Given the description of an element on the screen output the (x, y) to click on. 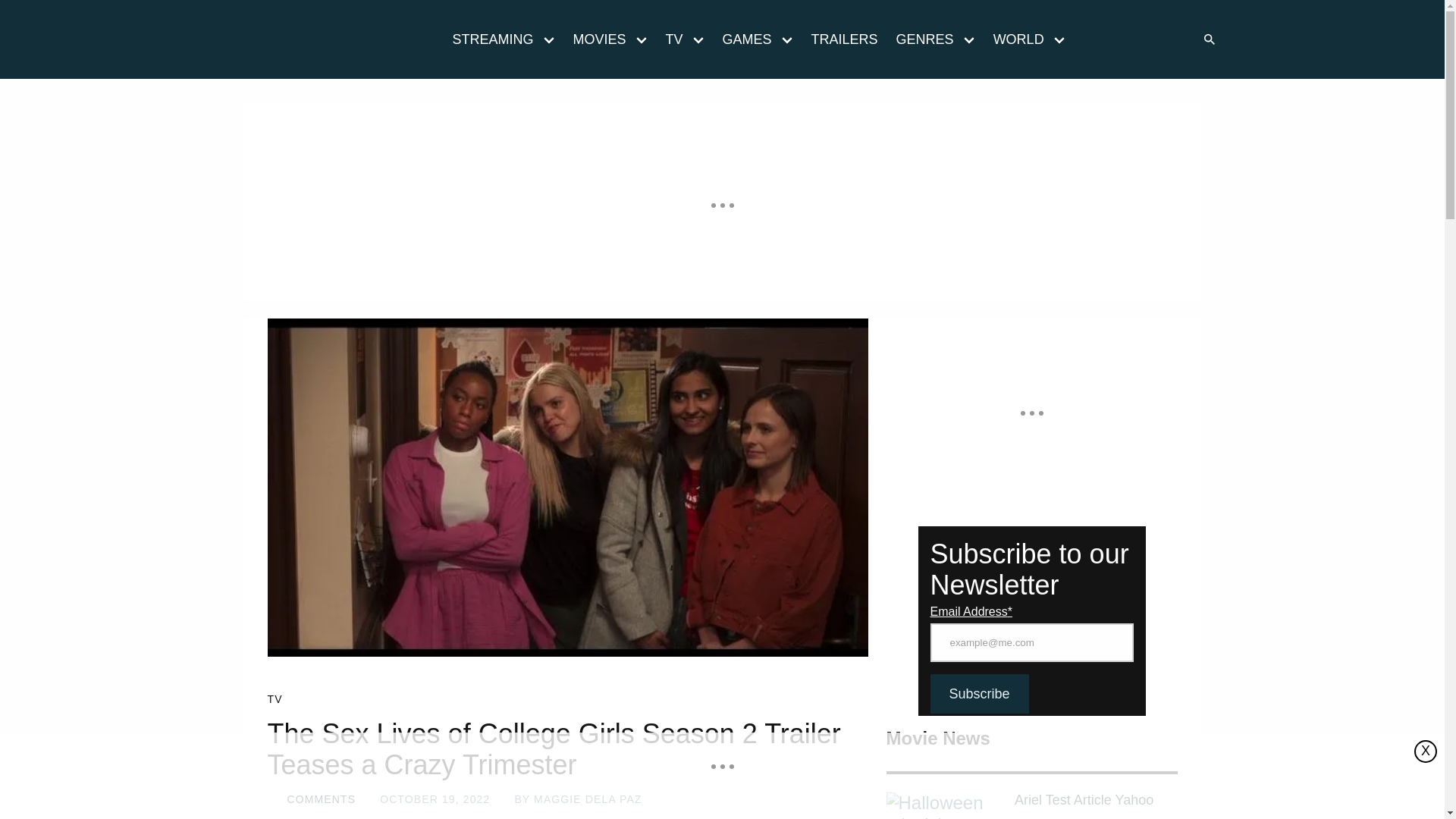
Ariel Test Article Yahoo (1095, 800)
Open menu (786, 39)
Ariel Test Article Yahoo (944, 805)
Open menu (968, 39)
Open menu (641, 39)
TRAILERS (844, 39)
MOVIES (595, 39)
STREAMING (487, 39)
Open menu (549, 39)
Open menu (697, 39)
GENRES (919, 39)
GAMES (742, 39)
